Given the description of an element on the screen output the (x, y) to click on. 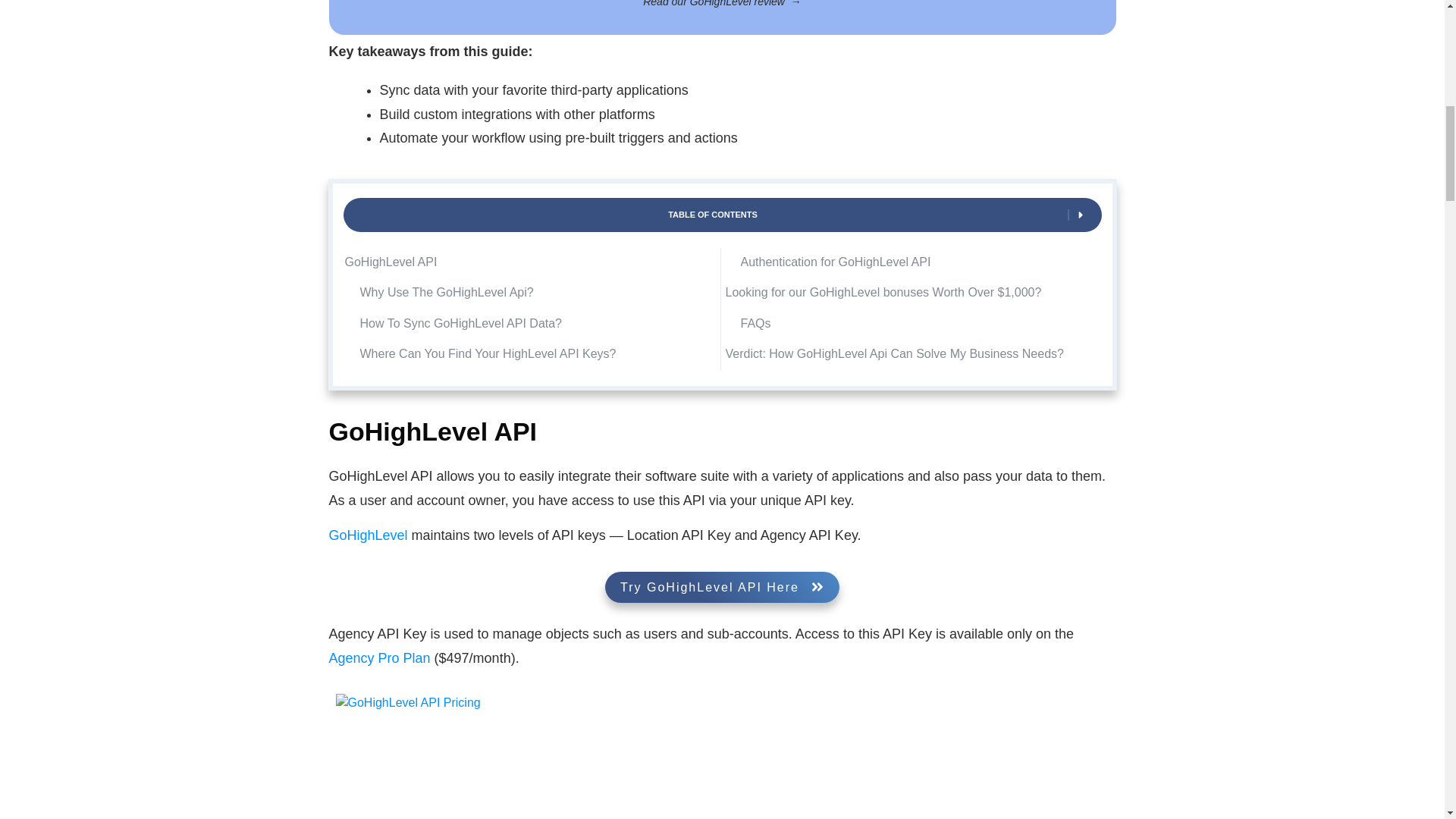
How To Sync GoHighLevel API Data? (460, 323)
highlevel (722, 587)
Why Use The GoHighLevel Api? (445, 292)
Where Can You Find Your HighLevel API Keys?  (488, 353)
GoHighLevel API (389, 262)
highlevel (721, 756)
FAQs (754, 323)
Authentication for GoHighLevel API (834, 262)
Verdict: How GoHighLevel Api Can Solve My Business Needs? (893, 353)
